Given the description of an element on the screen output the (x, y) to click on. 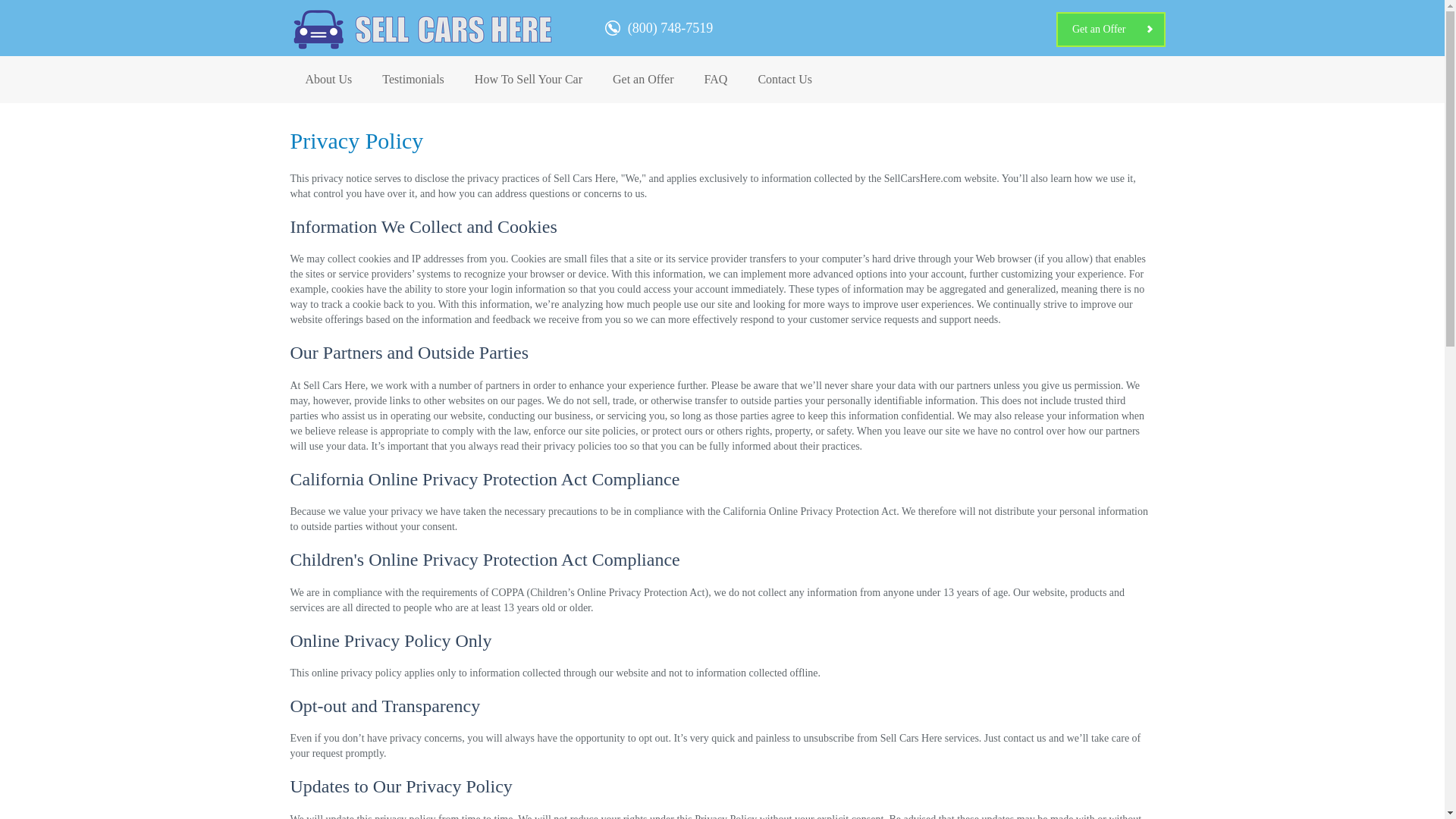
Get an Offer (642, 79)
Contact Us (784, 79)
Home (423, 27)
How To Sell Your Car (528, 79)
About Us (327, 79)
Testimonials (413, 79)
FAQ (715, 79)
Get an Offer (1111, 29)
